Given the description of an element on the screen output the (x, y) to click on. 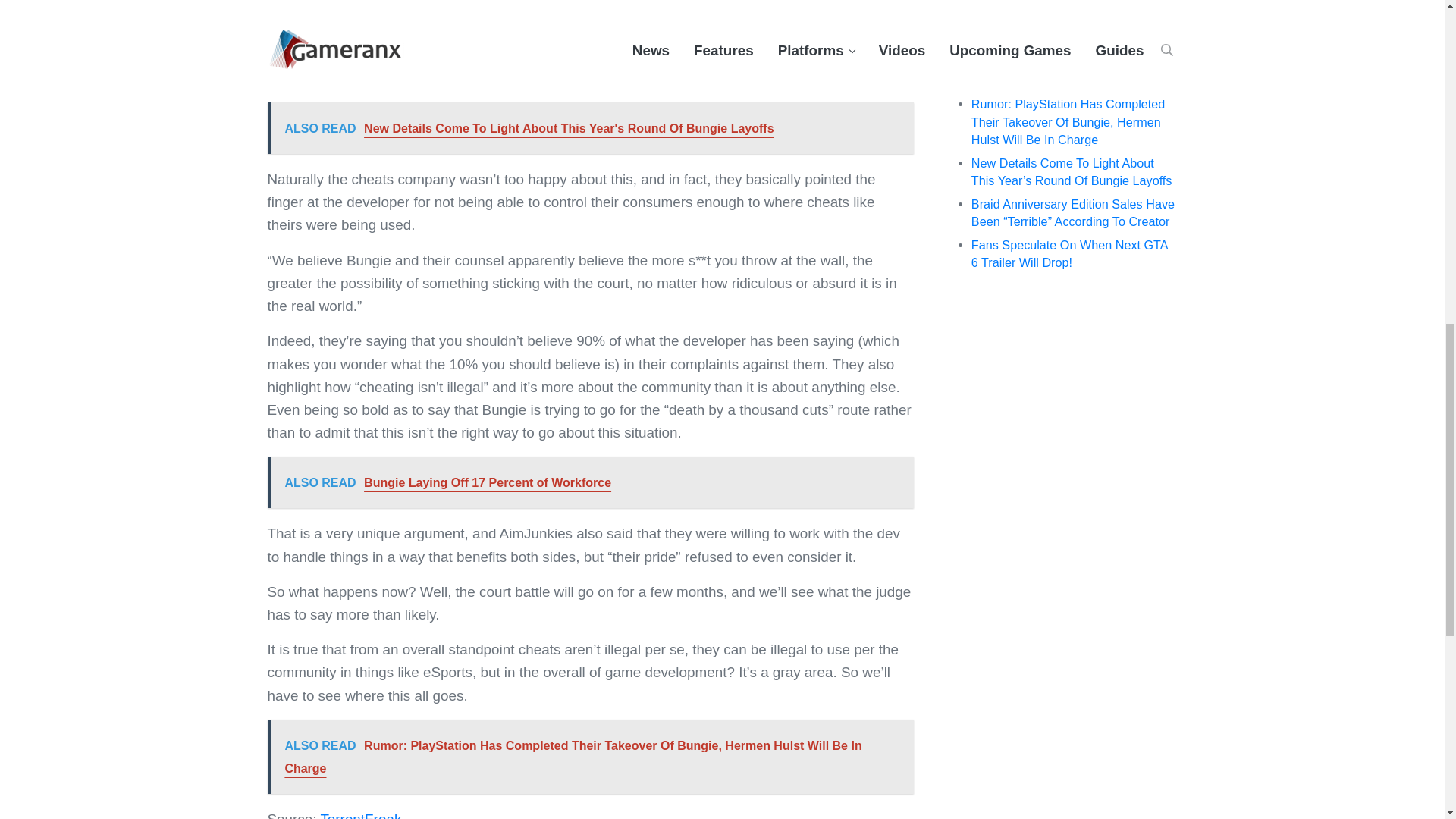
TorrentFreak (360, 815)
ALSO READ  Bungie Laying Off 17 Percent of Workforce (589, 481)
